Given the description of an element on the screen output the (x, y) to click on. 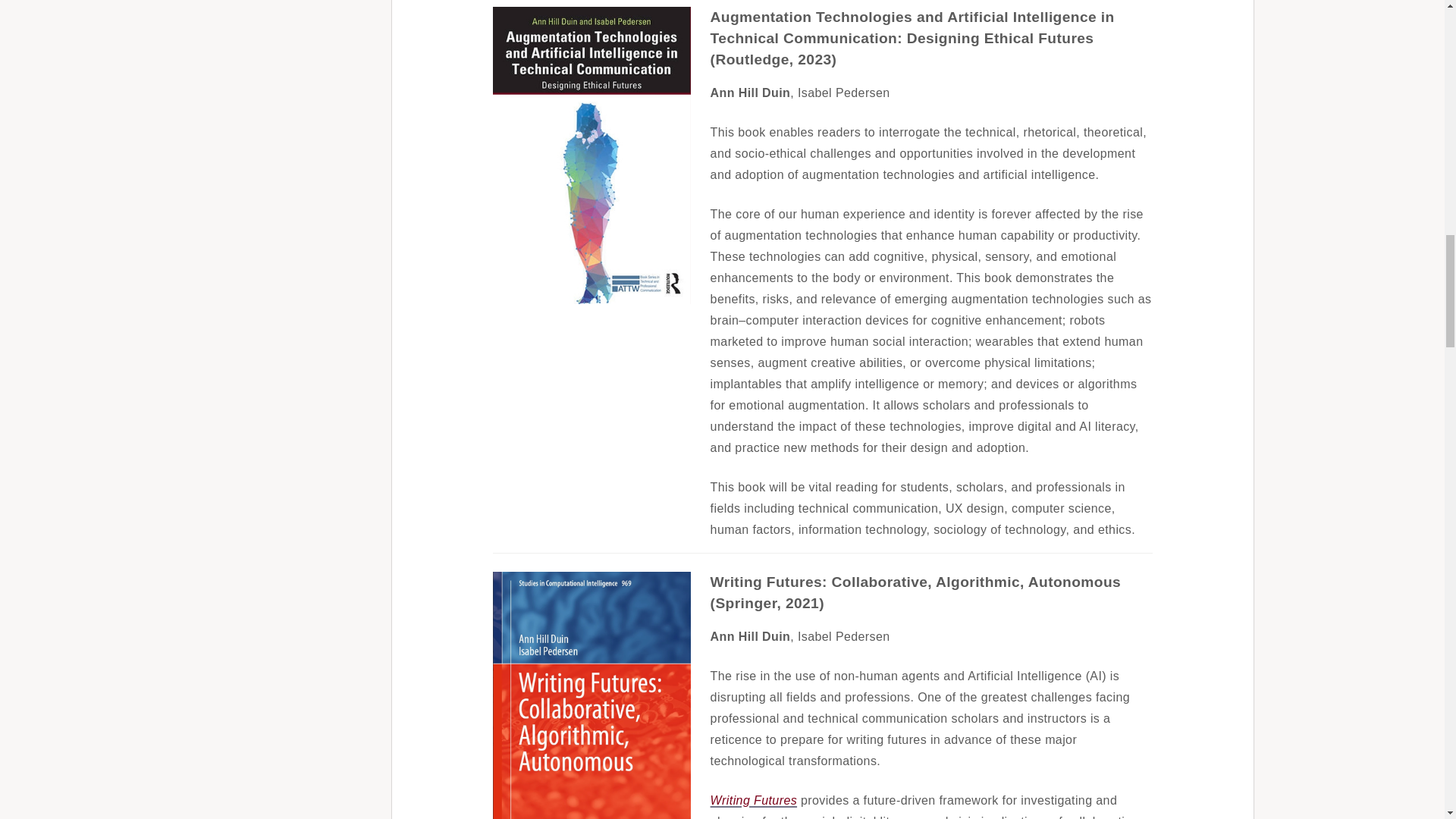
Writing Futures (753, 799)
